Given the description of an element on the screen output the (x, y) to click on. 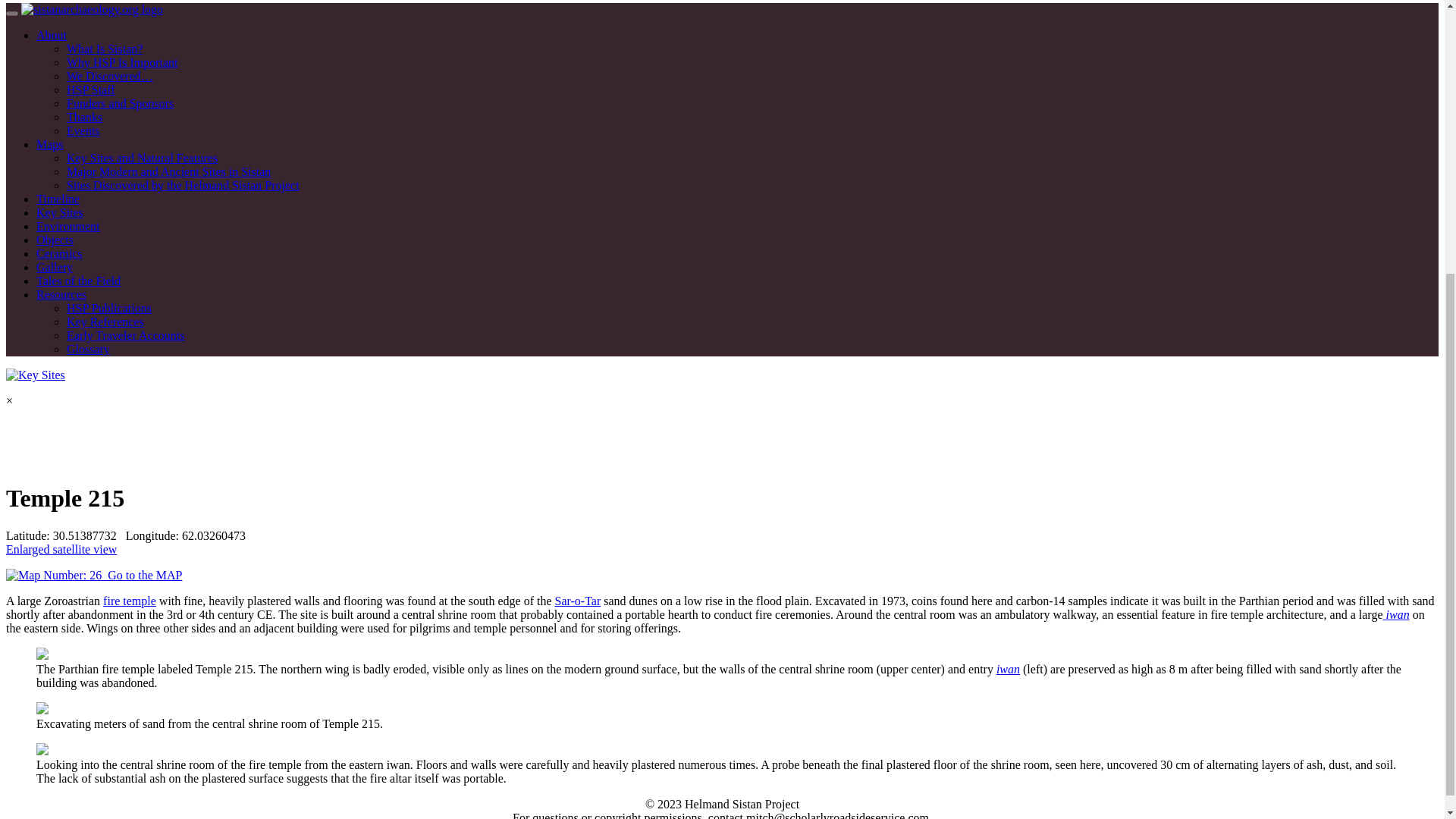
Home (35, 374)
Why HSP Is Important (121, 62)
HSP Staff (90, 89)
What Is Sistan? (104, 48)
Maps (50, 144)
About (51, 34)
Key Sites and Natural Features (141, 157)
Events (83, 130)
Thanks (83, 116)
Home (92, 9)
